Given the description of an element on the screen output the (x, y) to click on. 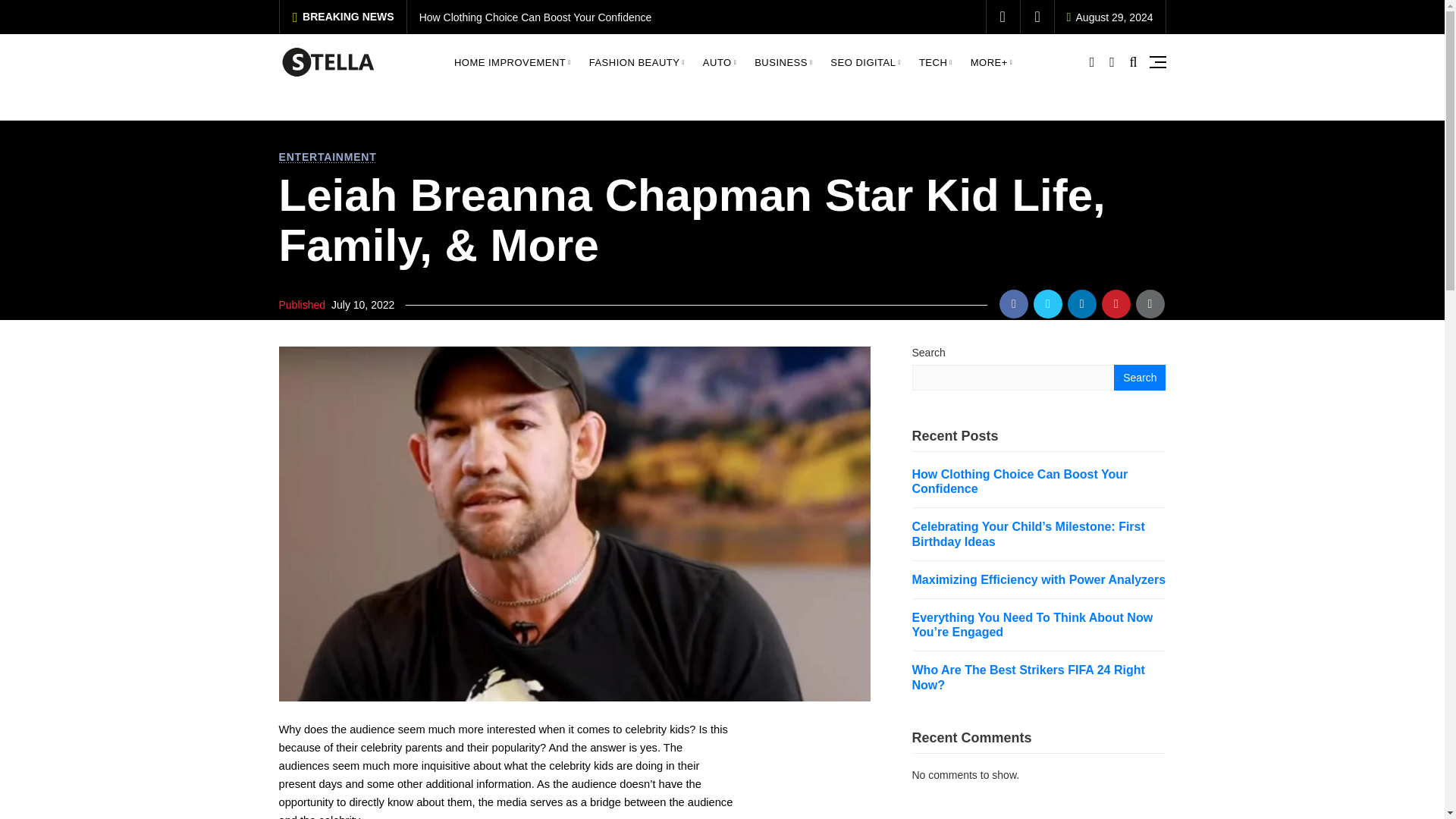
HOME IMPROVEMENT (512, 62)
AUTO (719, 62)
How Clothing Choice Can Boost Your Confidence (535, 16)
FASHION BEAUTY (636, 62)
